Given the description of an element on the screen output the (x, y) to click on. 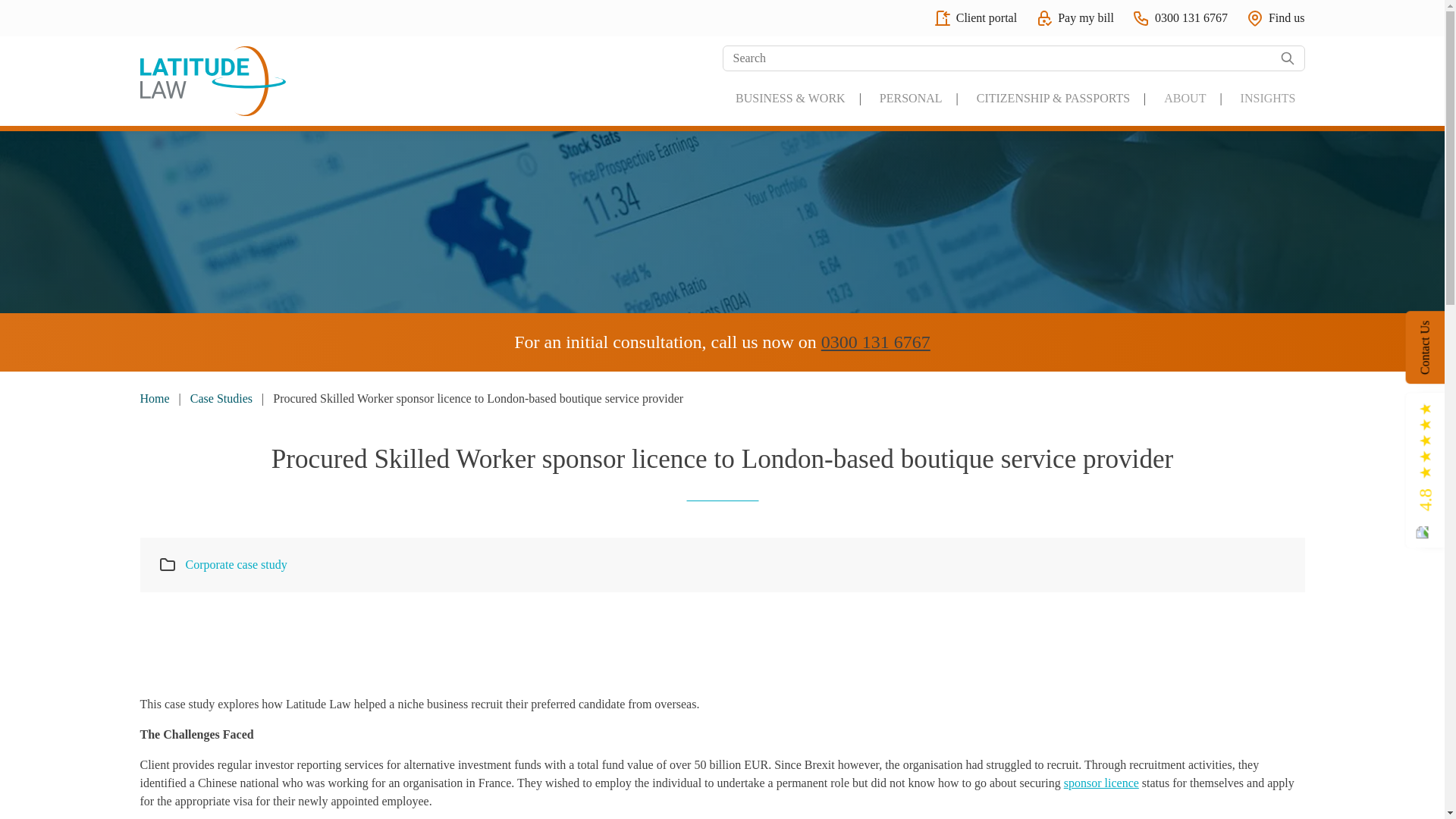
Pay my bill (1074, 18)
Find us (1275, 18)
Client portal (974, 18)
0300 131 6767 (1179, 18)
